Given the description of an element on the screen output the (x, y) to click on. 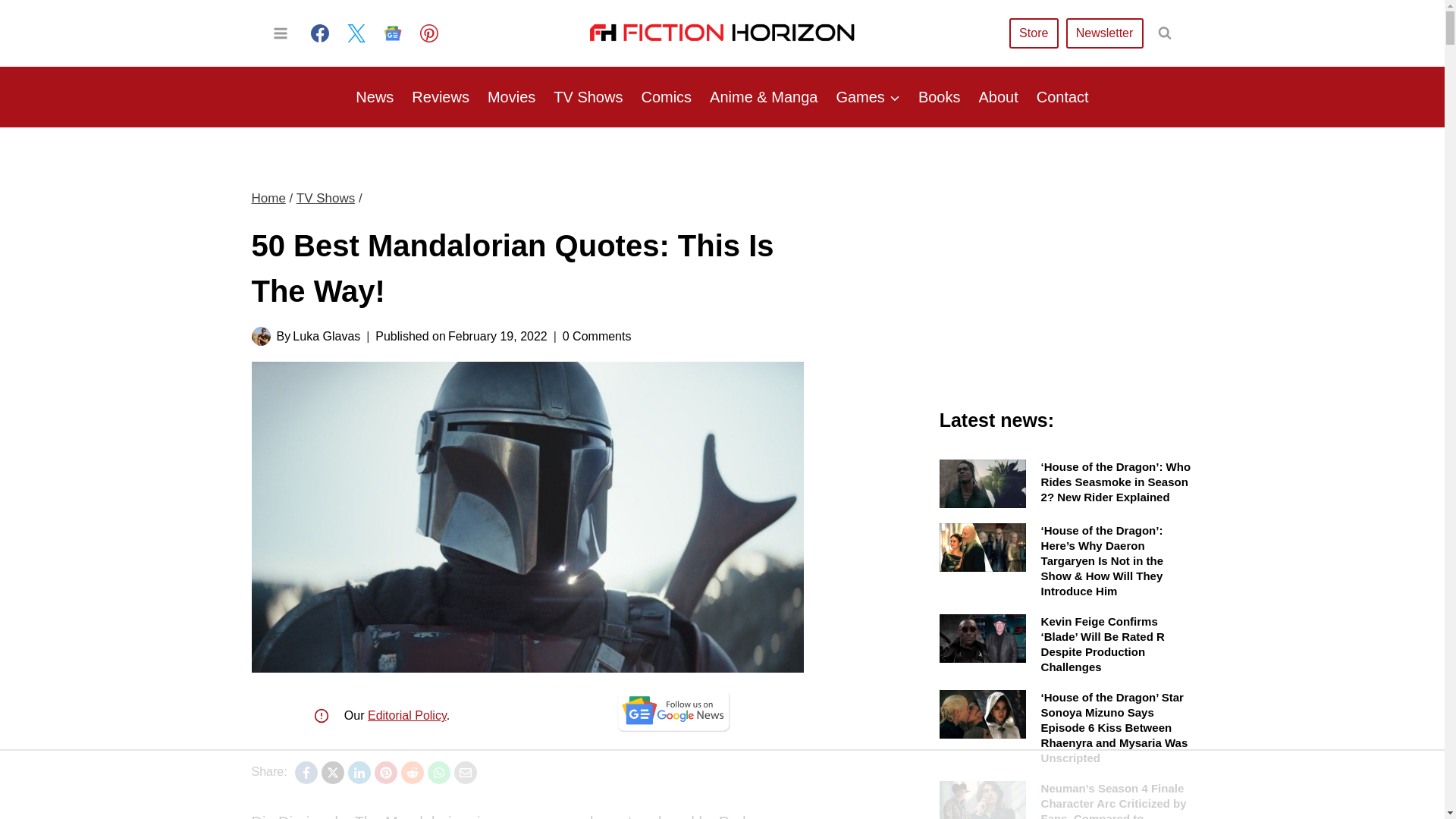
Reviews (441, 96)
0 Comments (596, 335)
Movies (511, 96)
Editorial Policy (407, 715)
Contact (1062, 96)
Comics (665, 96)
0 Comments (596, 335)
TV Shows (326, 197)
About (997, 96)
Newsletter (1103, 32)
Luka Glavas (325, 336)
Store (1033, 32)
TV Shows (587, 96)
Home (268, 197)
